Given the description of an element on the screen output the (x, y) to click on. 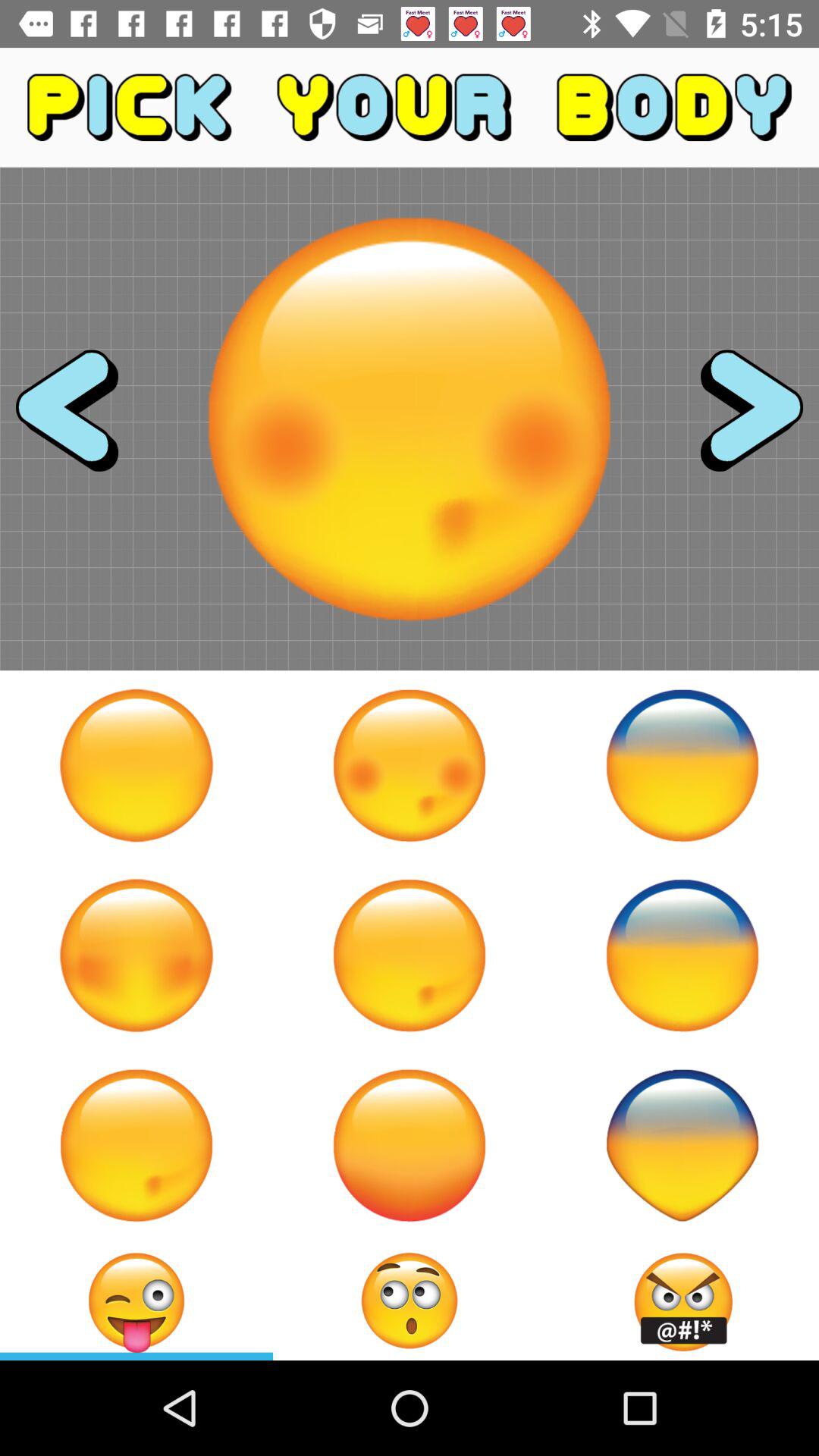
select this option (409, 1145)
